Given the description of an element on the screen output the (x, y) to click on. 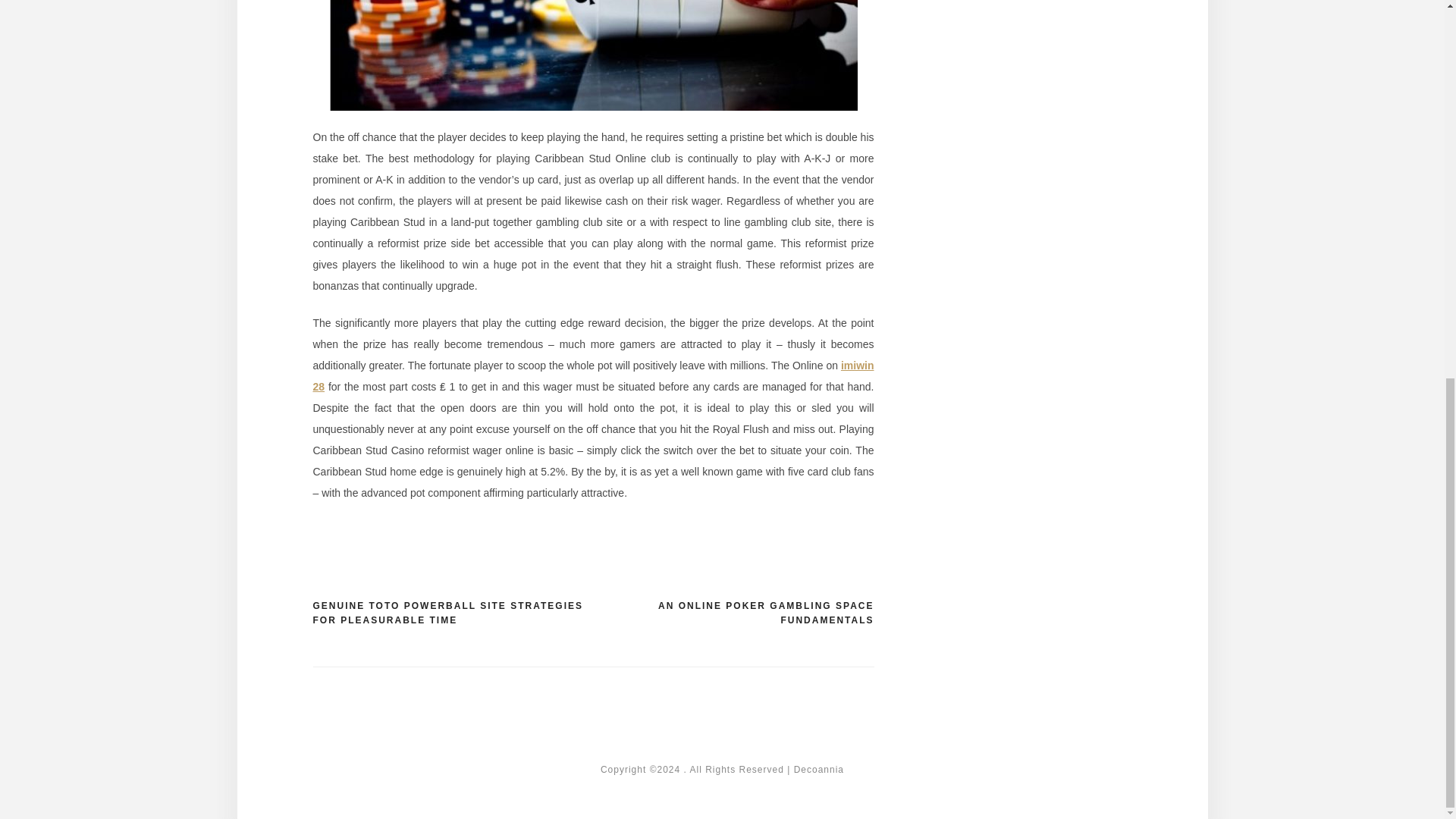
GENUINE TOTO POWERBALL SITE STRATEGIES FOR PLEASURABLE TIME (452, 613)
imiwin 28 (593, 376)
AN ONLINE POKER GAMBLING SPACE FUNDAMENTALS (732, 613)
